Given the description of an element on the screen output the (x, y) to click on. 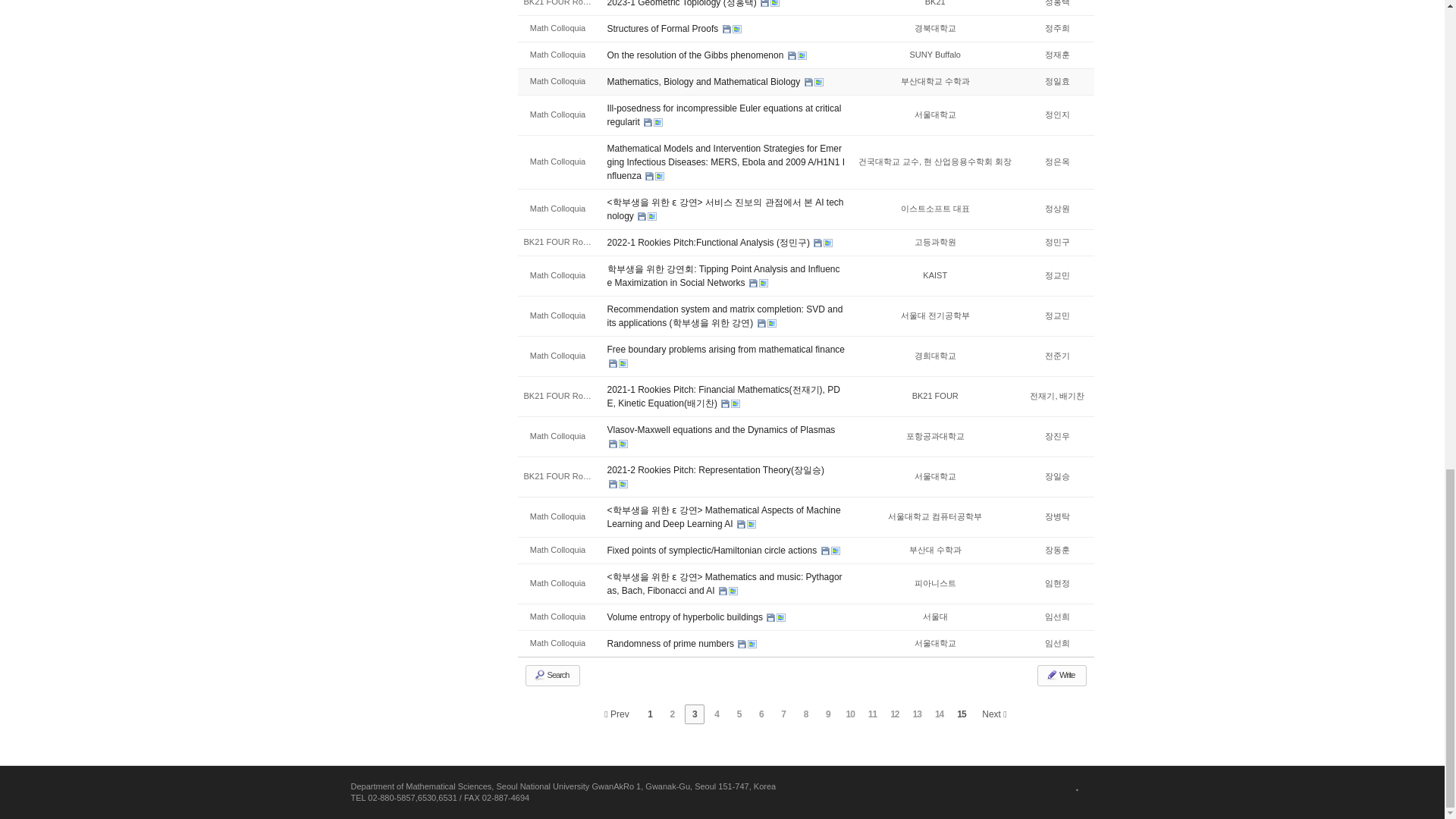
file (764, 3)
Image (818, 81)
file (808, 81)
Image (774, 3)
file (726, 29)
file (791, 55)
Image (801, 55)
Image (736, 29)
